Given the description of an element on the screen output the (x, y) to click on. 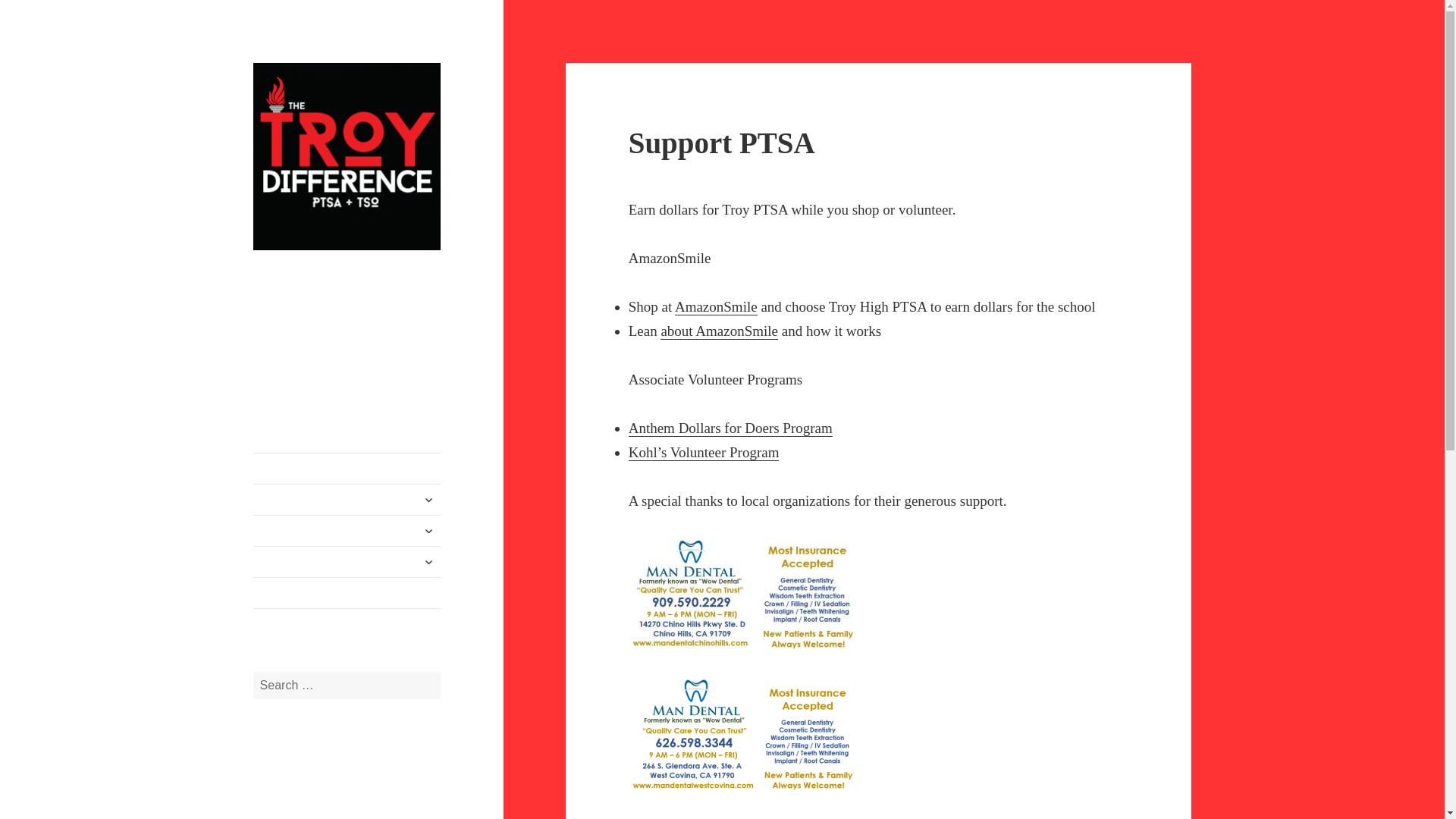
expand child menu (428, 561)
The Troy Difference (303, 286)
expand child menu (428, 499)
expand child menu (428, 530)
Home (347, 468)
Foundation (347, 499)
PTSA (347, 530)
